Given the description of an element on the screen output the (x, y) to click on. 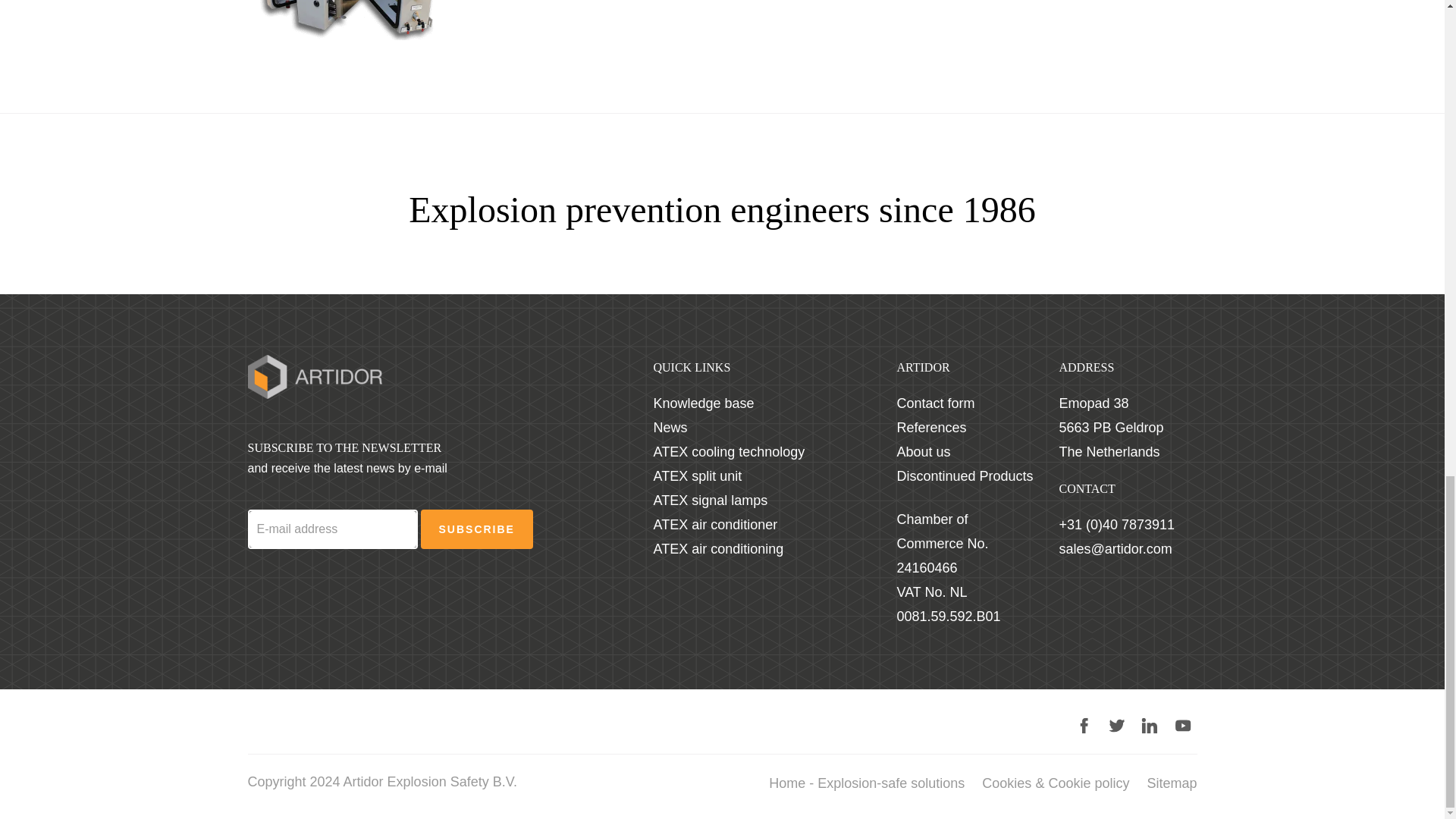
ATEX cooling technology (729, 451)
About us (923, 451)
News (670, 427)
Home - Explosion-safe solutions (865, 783)
Subscribe (476, 528)
ATEX air conditioning (718, 548)
ATEX split unit (697, 476)
ATEX signal lamps (710, 500)
Discontinued Products (964, 476)
References (931, 427)
